Given the description of an element on the screen output the (x, y) to click on. 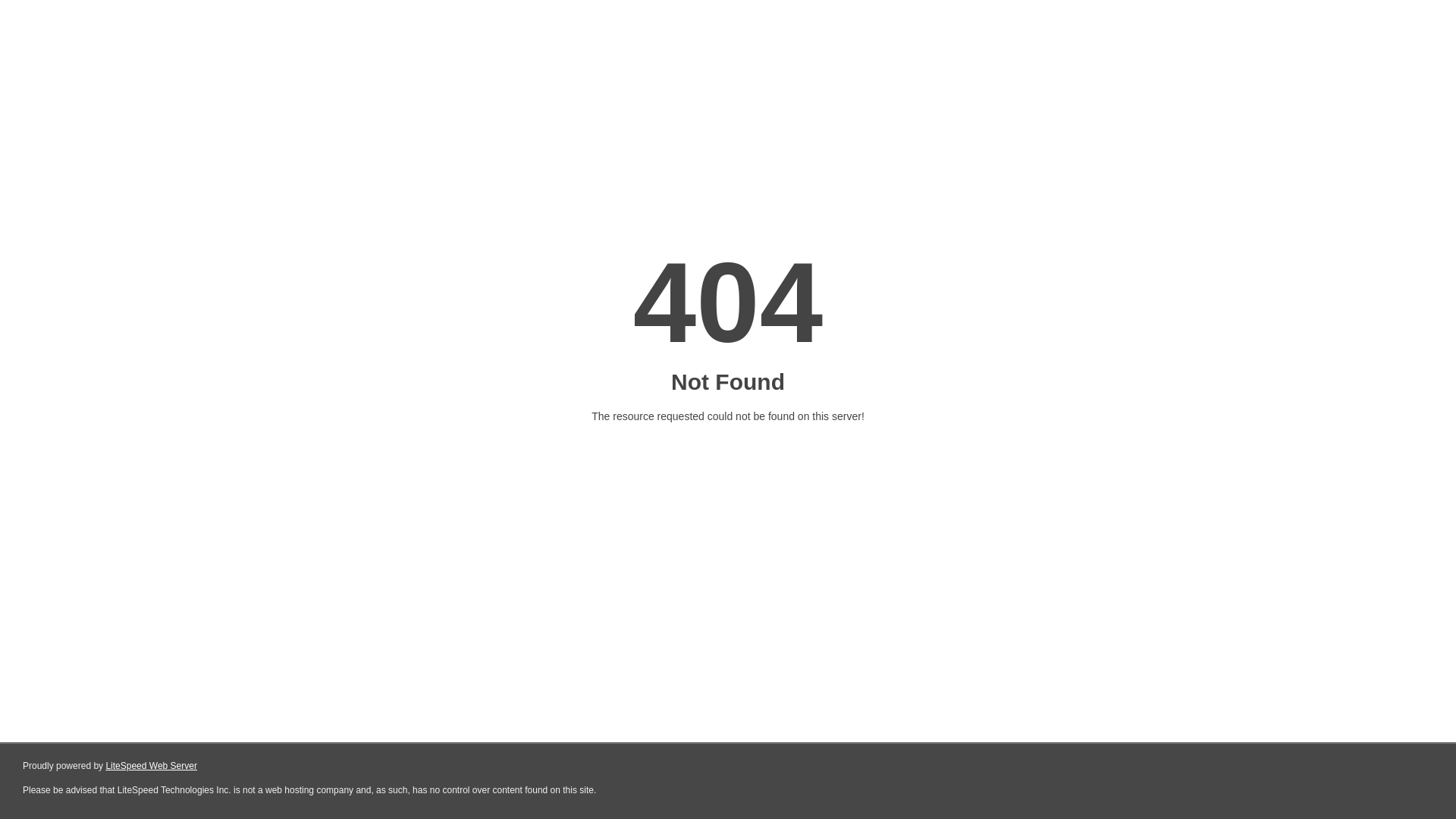
LiteSpeed Web Server Element type: text (151, 765)
